Given the description of an element on the screen output the (x, y) to click on. 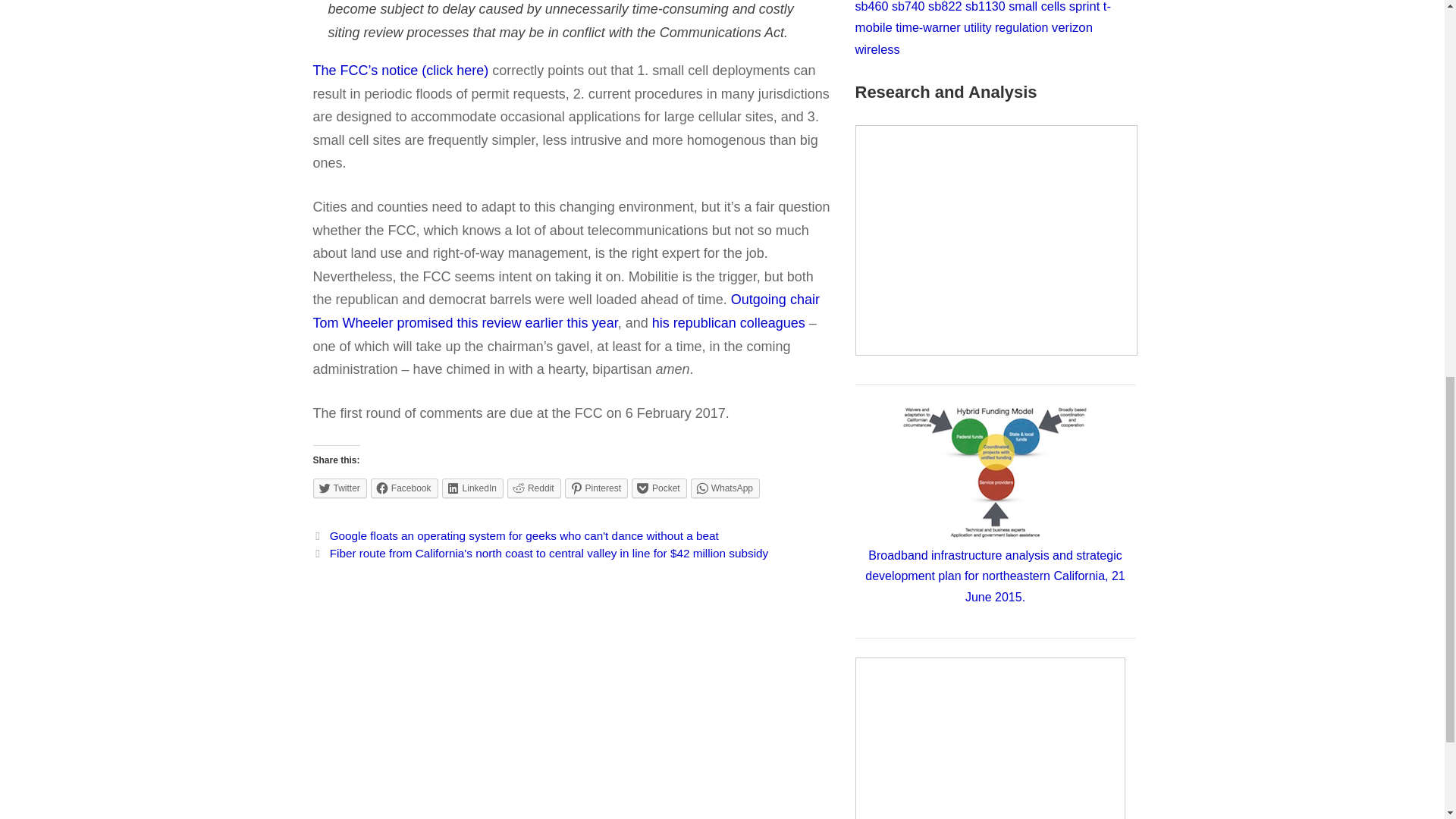
Click to share on Facebook (404, 487)
Previous (515, 535)
Click to share on Pinterest (595, 487)
Next (540, 553)
Click to share on Reddit (533, 487)
Click to share on LinkedIn (472, 487)
Click to share on Twitter (339, 487)
Click to share on WhatsApp (725, 487)
Click to share on Pocket (659, 487)
